Given the description of an element on the screen output the (x, y) to click on. 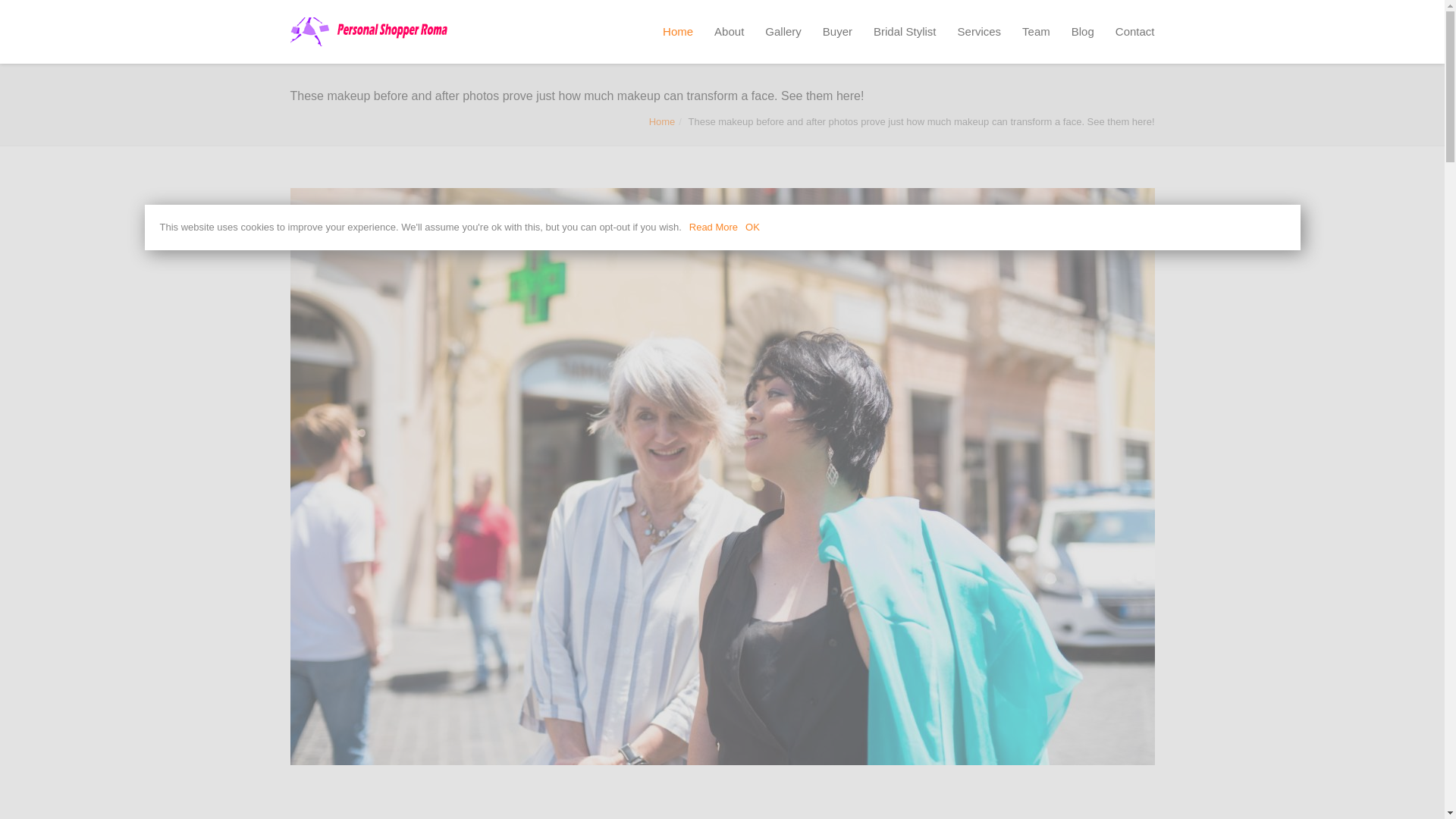
Bridal Stylist (905, 31)
Home (662, 121)
Gallery (783, 31)
Services (979, 31)
